Given the description of an element on the screen output the (x, y) to click on. 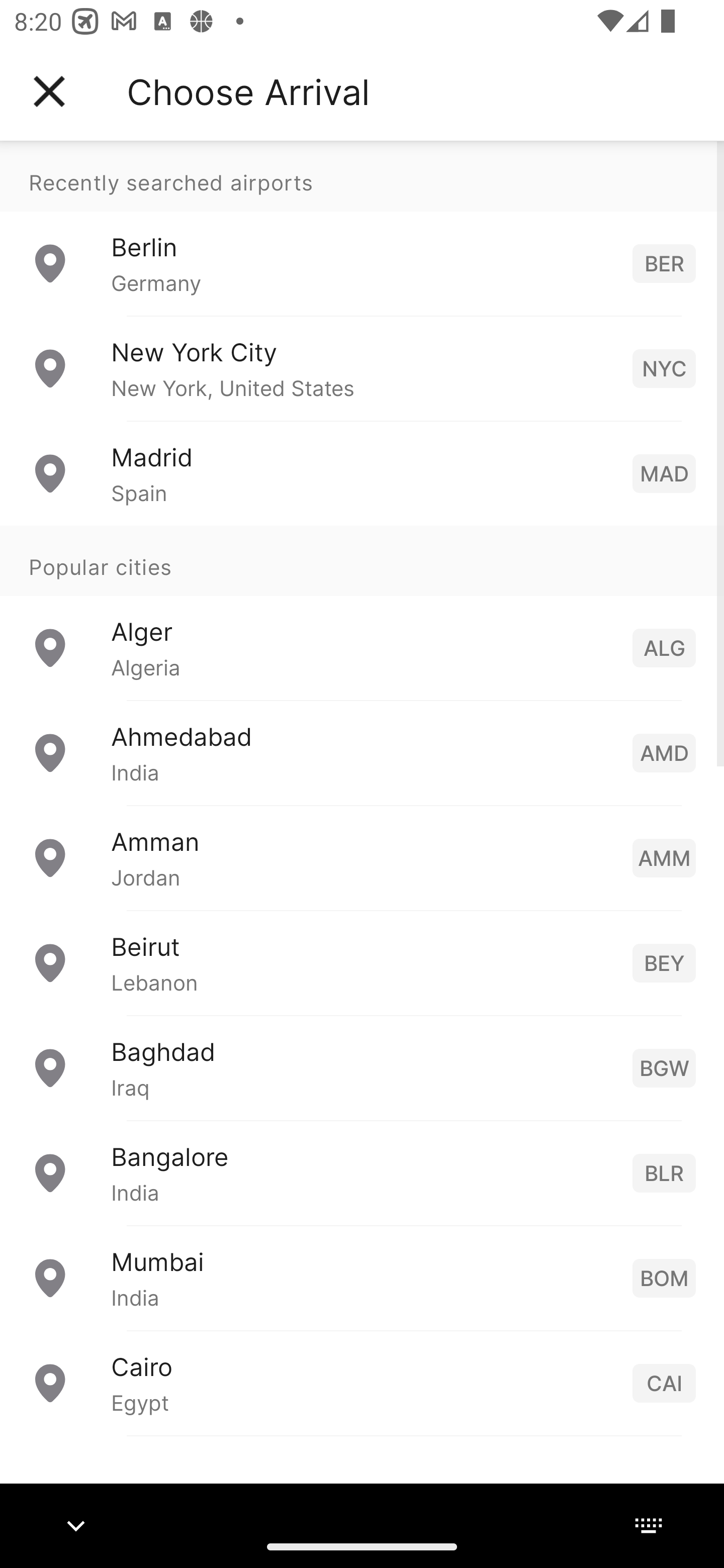
Choose Arrival (247, 91)
Recently searched airports Berlin Germany BER (362, 228)
Recently searched airports (362, 176)
New York City New York, United States NYC (362, 367)
Madrid Spain MAD (362, 472)
Popular cities Alger Algeria ALG (362, 612)
Popular cities (362, 560)
Ahmedabad India AMD (362, 751)
Amman Jordan AMM (362, 856)
Beirut Lebanon BEY (362, 961)
Baghdad Iraq BGW (362, 1066)
Bangalore India BLR (362, 1171)
Mumbai India BOM (362, 1276)
Cairo Egypt CAI (362, 1381)
